Given the description of an element on the screen output the (x, y) to click on. 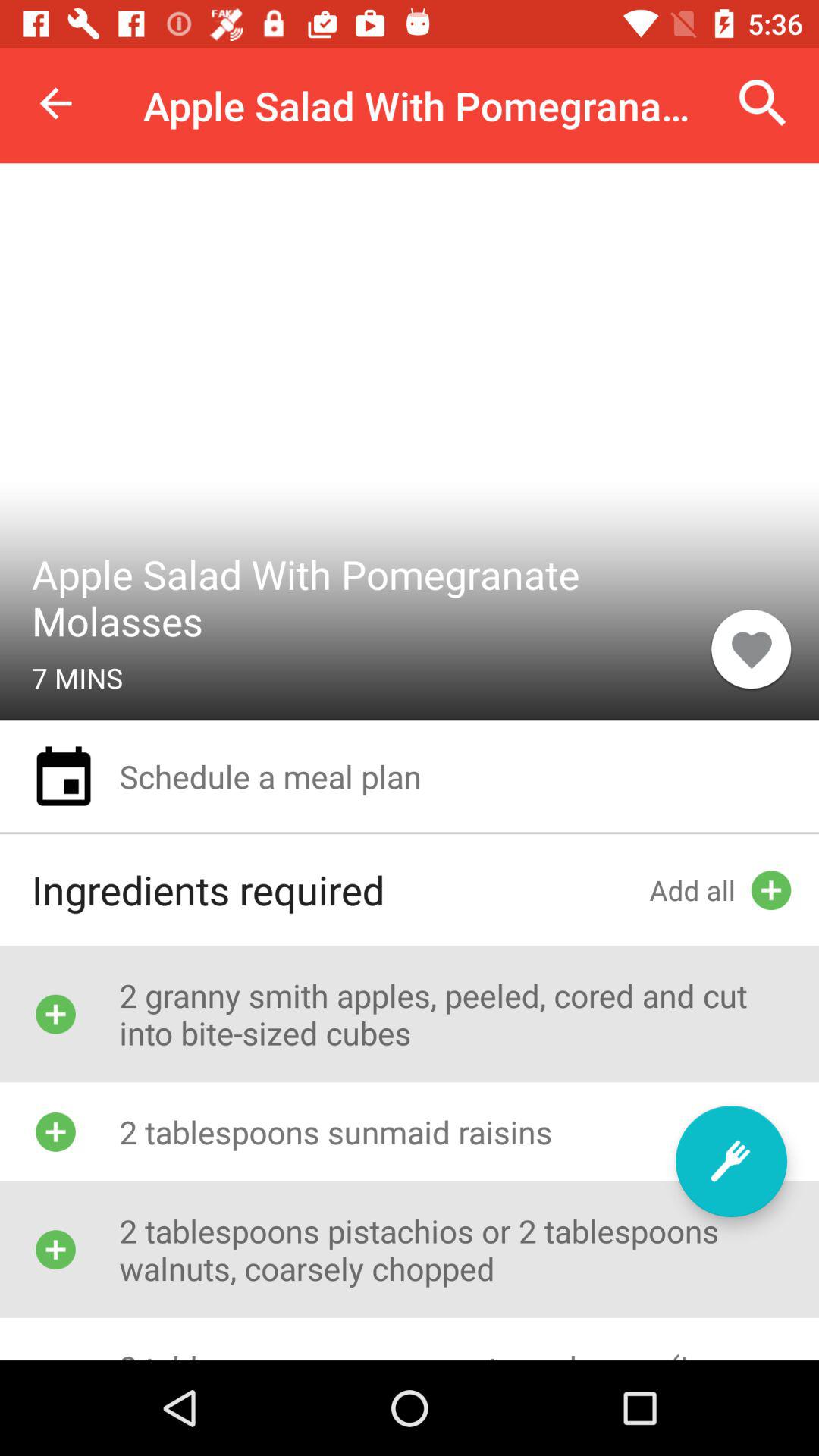
turn off item at the bottom right corner (731, 1161)
